Given the description of an element on the screen output the (x, y) to click on. 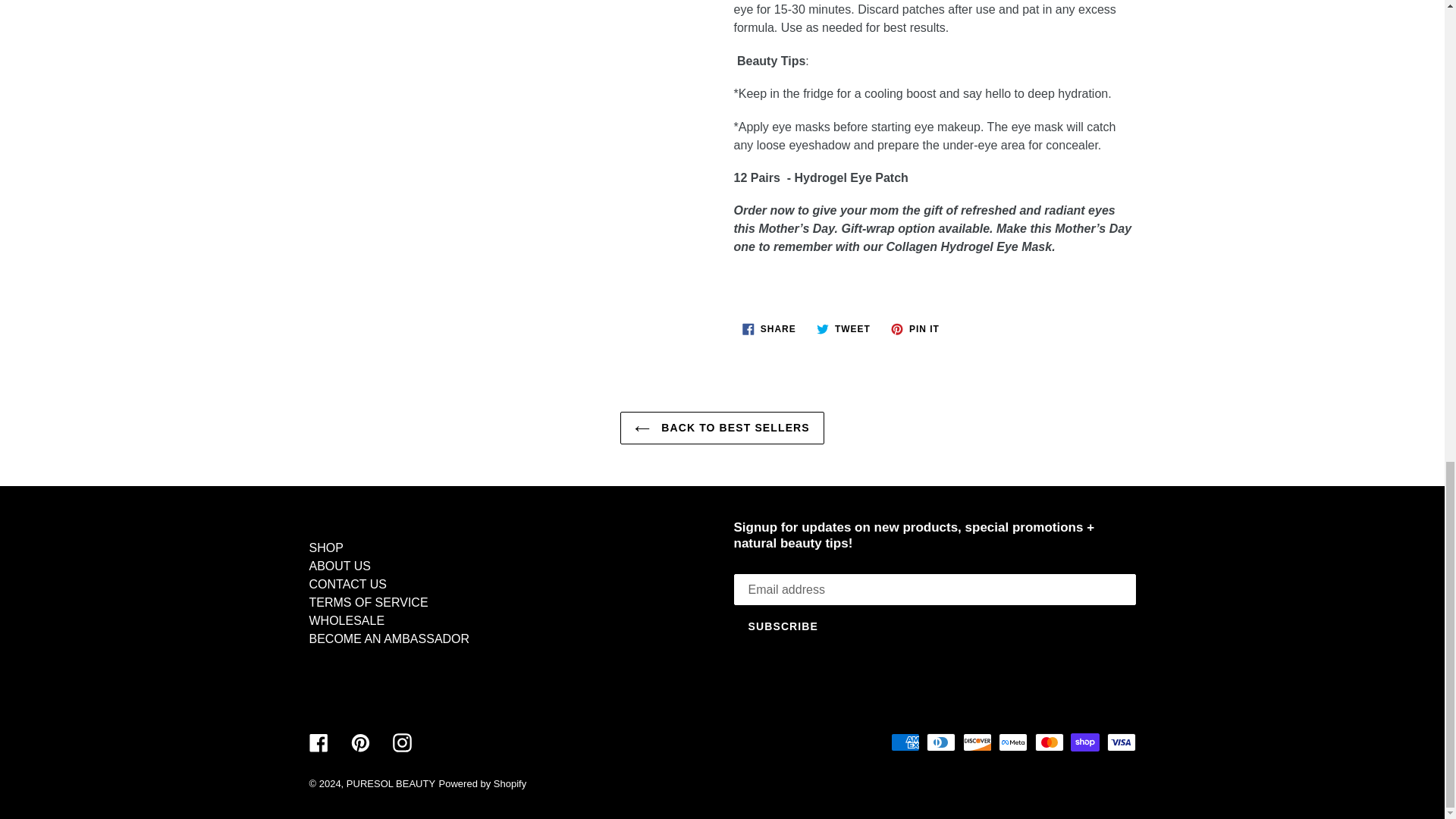
BACK TO BEST SELLERS (769, 329)
SHOP (914, 329)
